Given the description of an element on the screen output the (x, y) to click on. 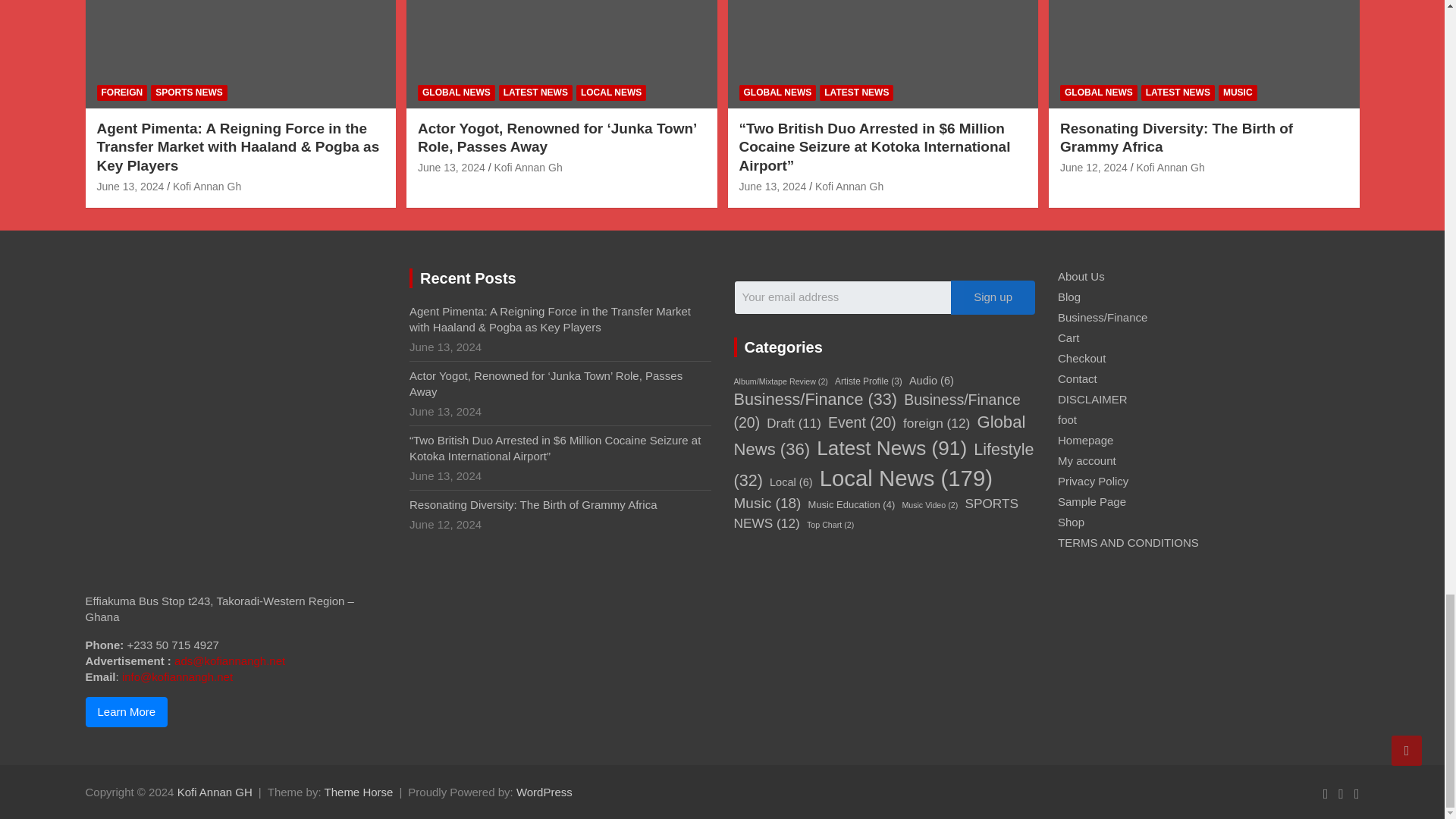
WordPress (544, 791)
Resonating Diversity: The Birth of Grammy Africa (1092, 167)
Kofi Annan GH (214, 791)
Theme Horse (358, 791)
Sign up (992, 297)
